Given the description of an element on the screen output the (x, y) to click on. 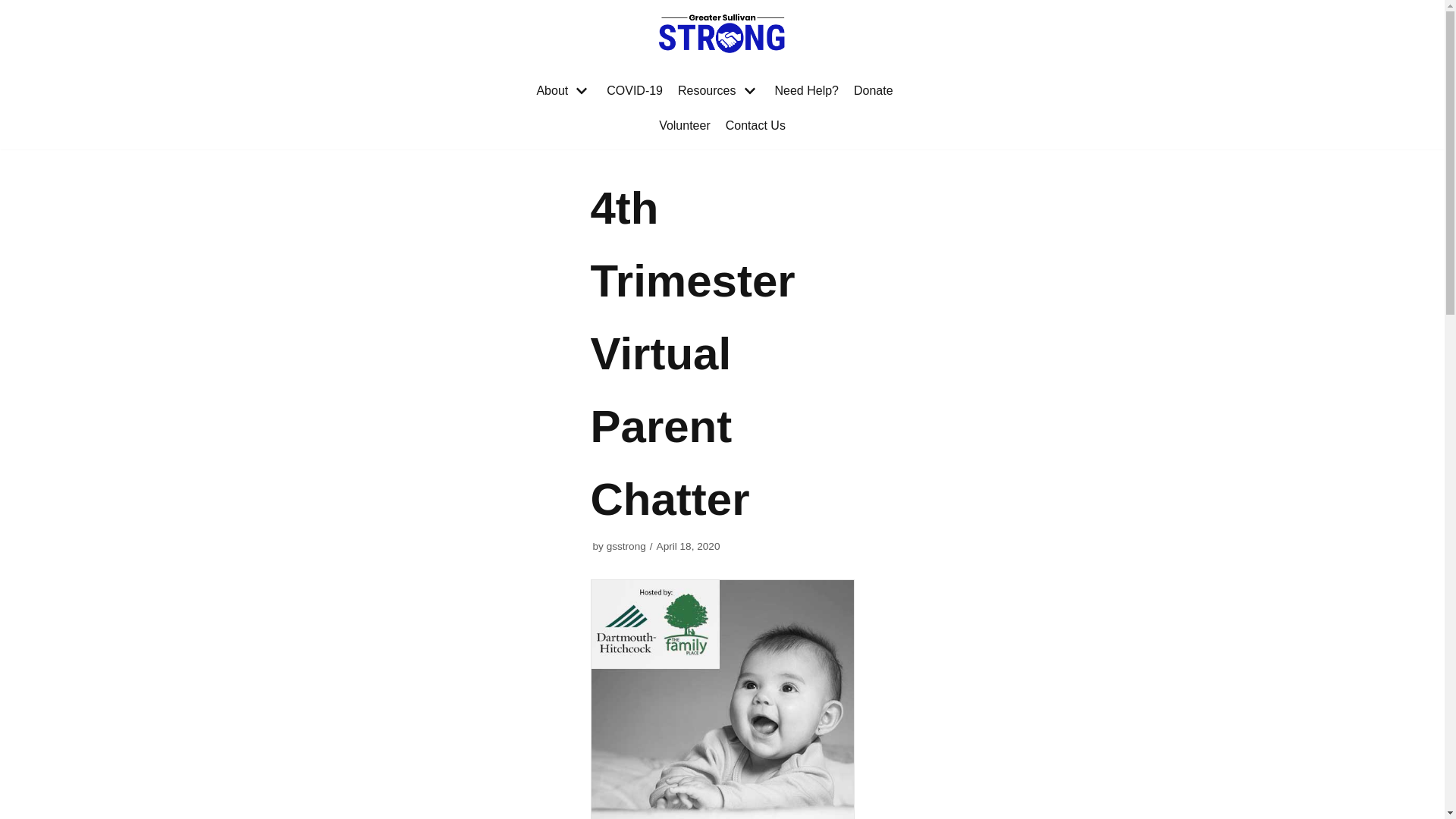
About (563, 90)
Greater Sullivan Strong (721, 33)
Skip to content (15, 7)
Donate (873, 90)
Posts by gsstrong (626, 546)
Resources (718, 90)
COVID-19 (634, 90)
Volunteer (684, 125)
Contact Us (755, 125)
Need Help? (807, 90)
